Given the description of an element on the screen output the (x, y) to click on. 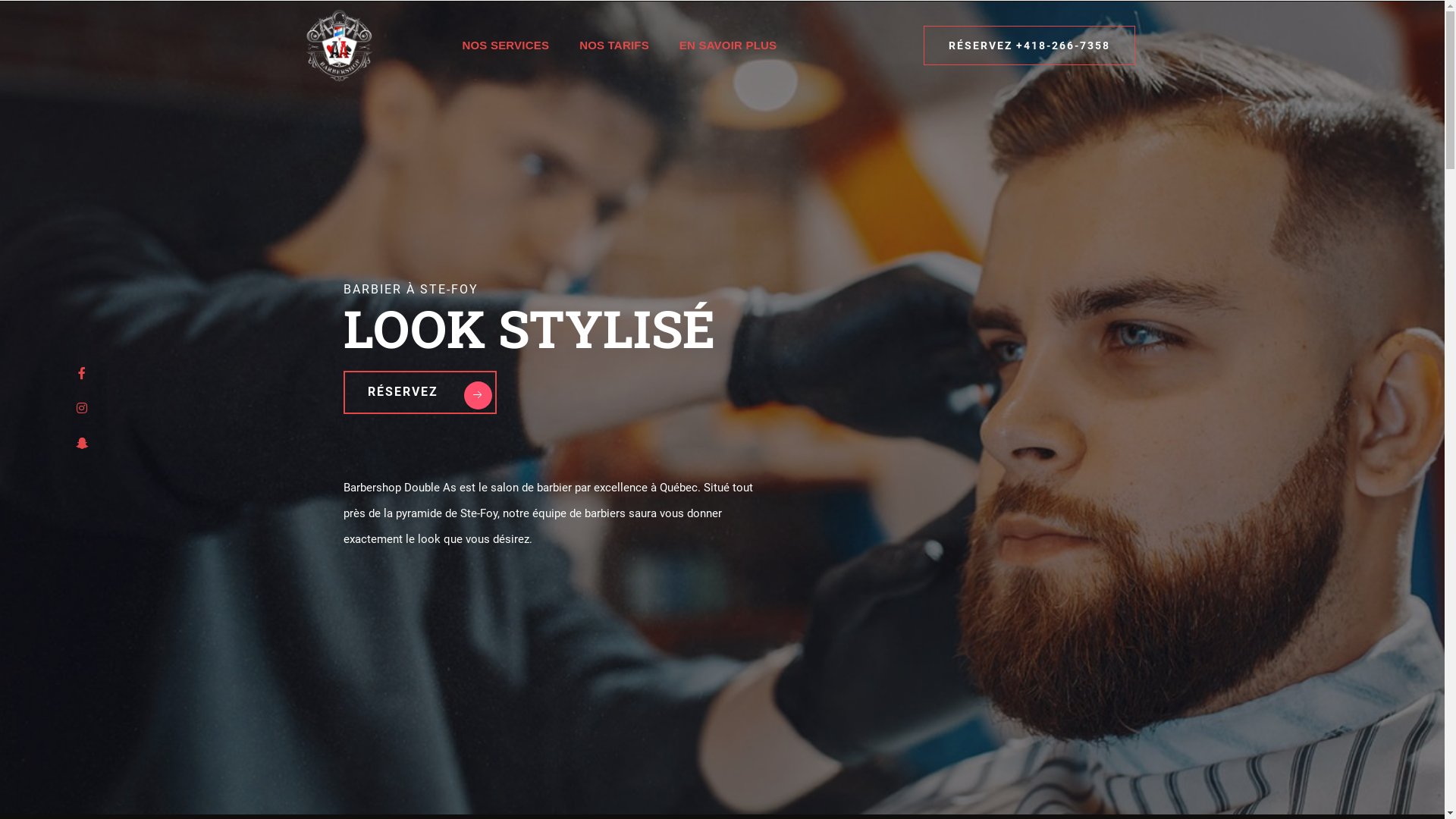
EN SAVOIR PLUS Element type: text (727, 45)
NOS SERVICES Element type: text (505, 45)
NOS TARIFS Element type: text (614, 45)
